Given the description of an element on the screen output the (x, y) to click on. 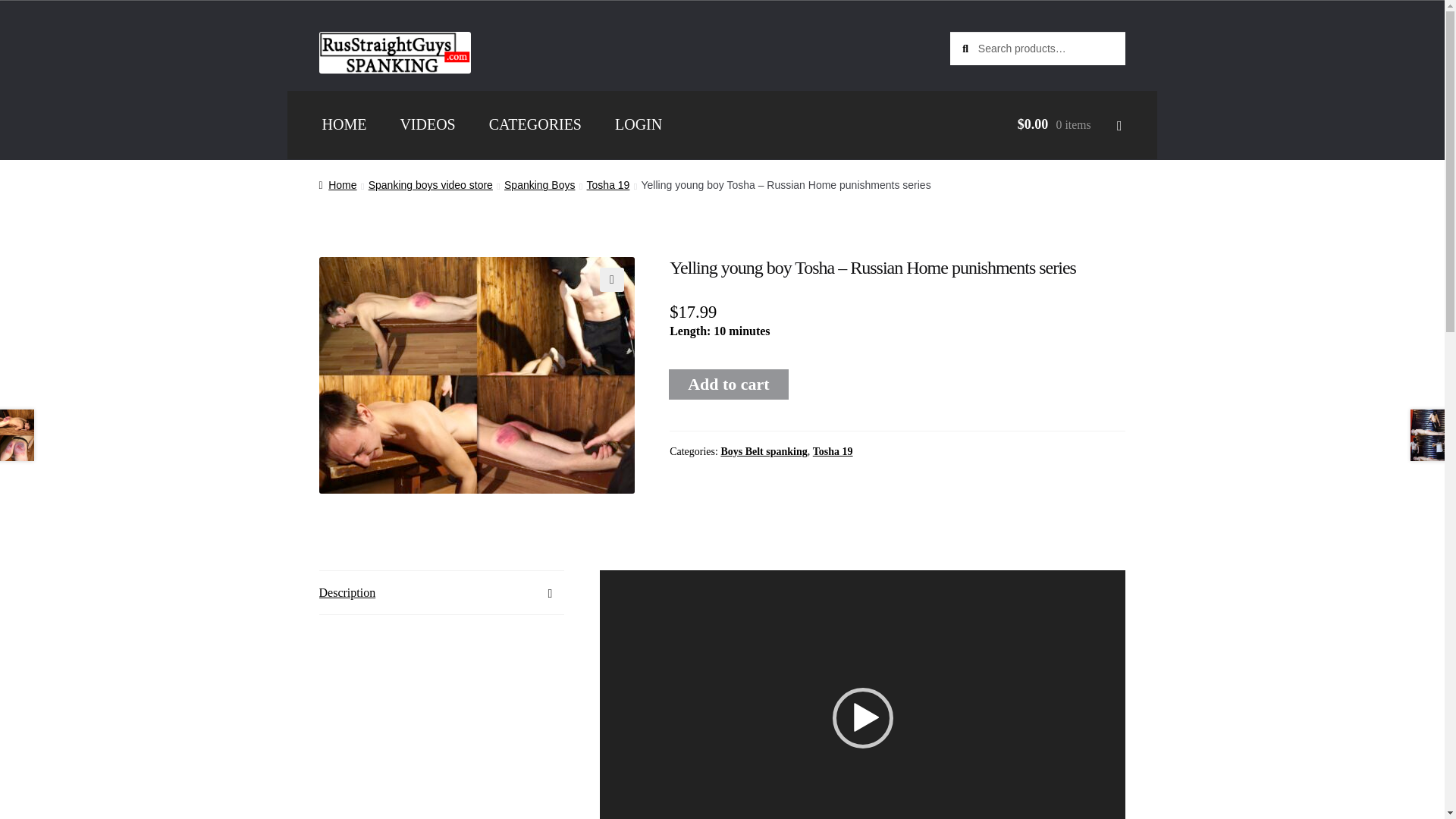
Tosha 19 (832, 451)
Add to cart (728, 384)
Boys Belt spanking (763, 451)
Spanking boys video store (430, 184)
Spanking Boys (539, 184)
Tosha 19 (608, 184)
VIDEOS (427, 124)
HOME (344, 124)
LOGIN (638, 124)
View your shopping cart (1035, 124)
